Given the description of an element on the screen output the (x, y) to click on. 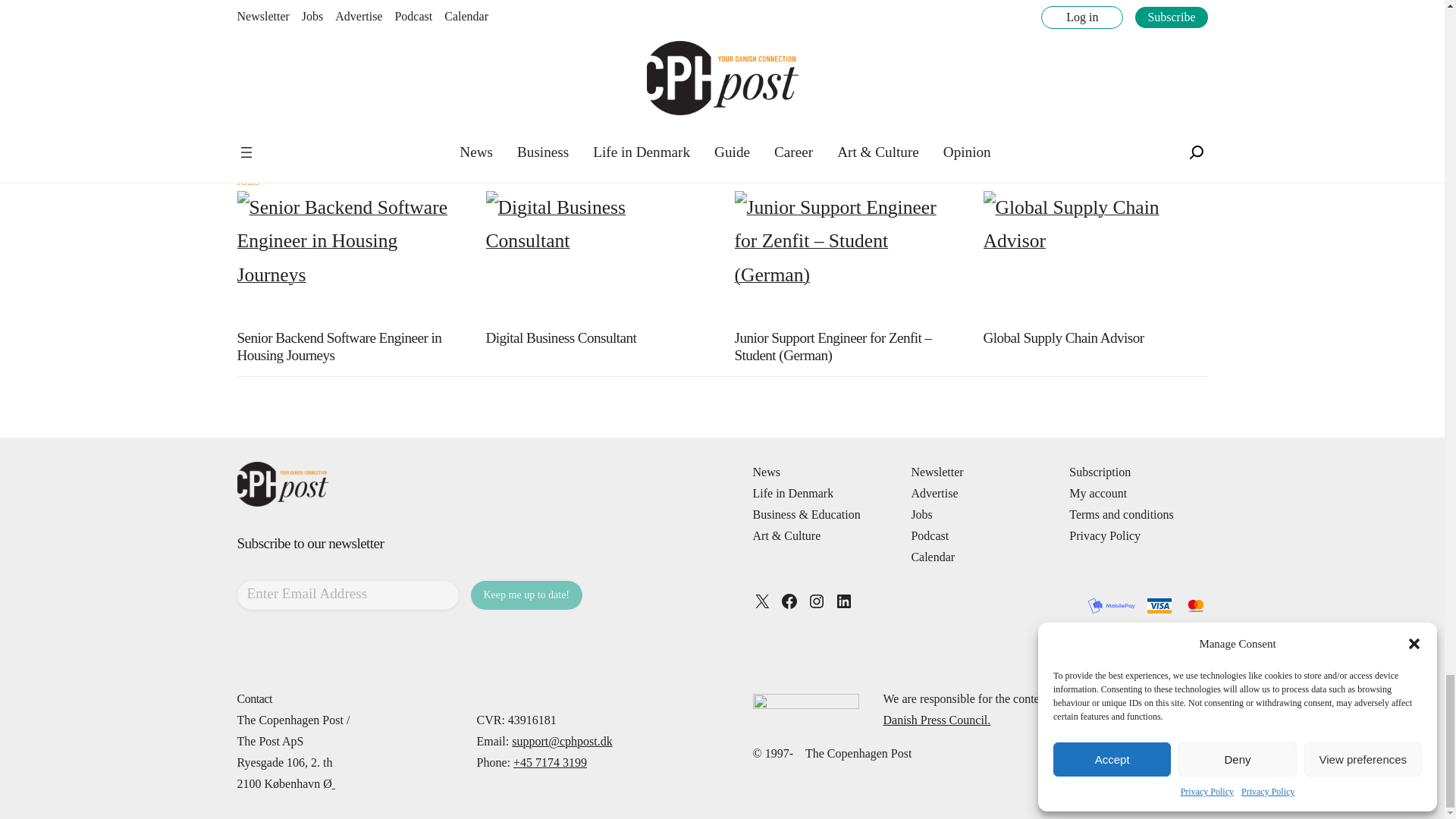
Keep me up to date! (526, 594)
